Given the description of an element on the screen output the (x, y) to click on. 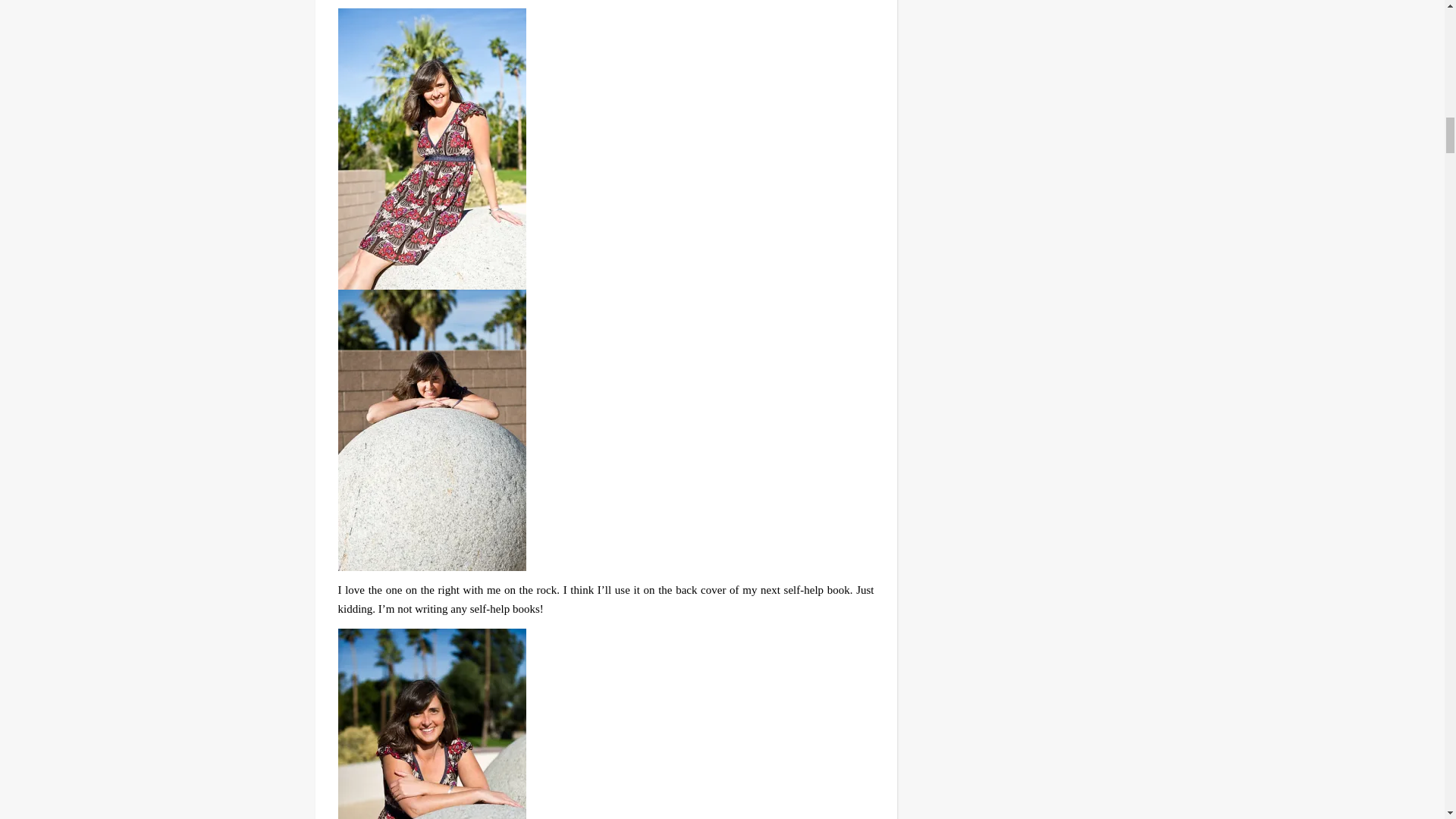
BrendaPonnay-13 by secret agent josephine, on Flickr (606, 723)
